Given the description of an element on the screen output the (x, y) to click on. 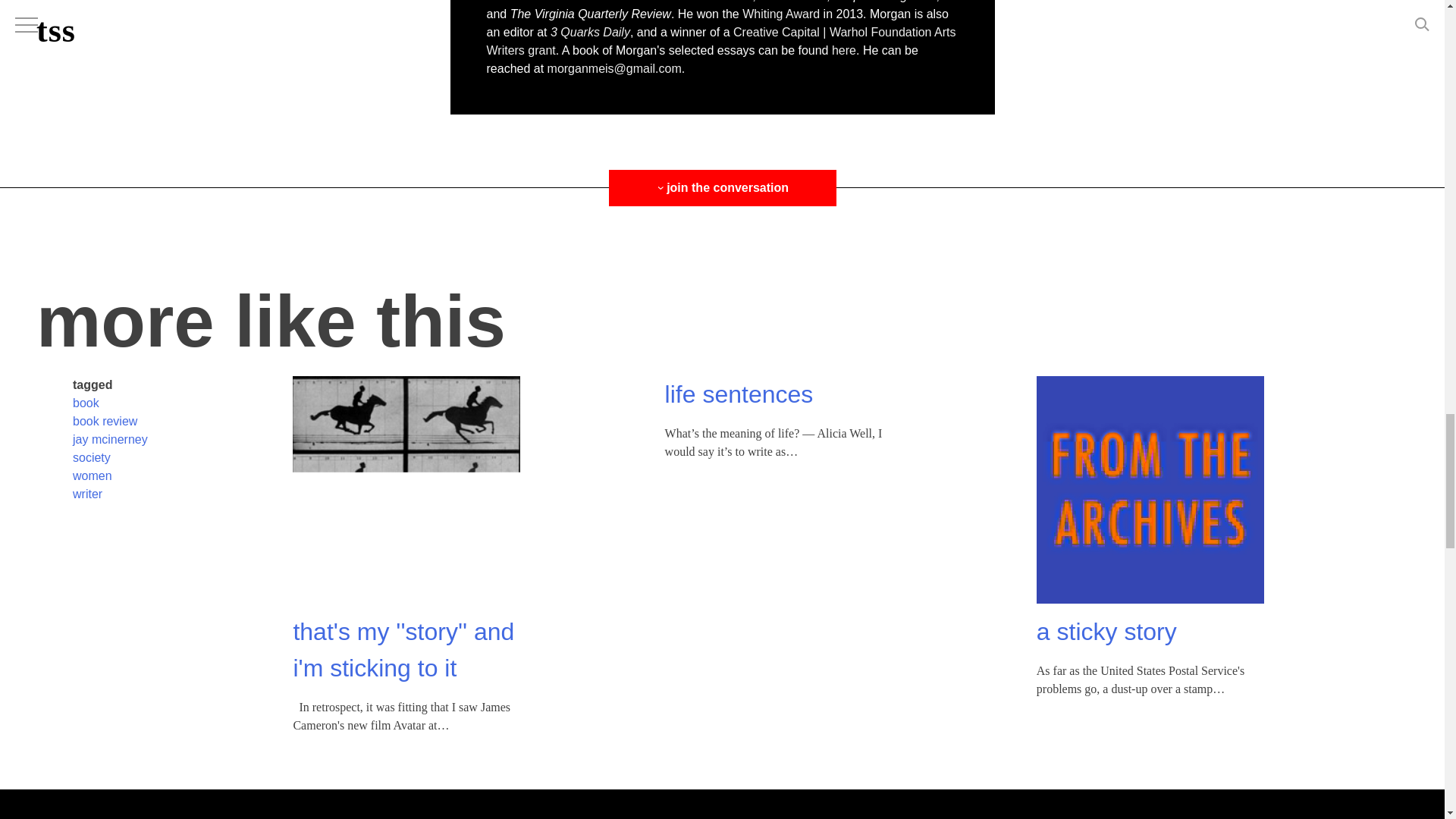
women (92, 474)
jay mcinerney (110, 438)
that's my ''story'' and i'm sticking to it (402, 648)
Whiting Award (780, 13)
book review (104, 420)
book (85, 401)
society (91, 456)
a sticky story (1106, 630)
here (843, 50)
life sentences (739, 393)
